Given the description of an element on the screen output the (x, y) to click on. 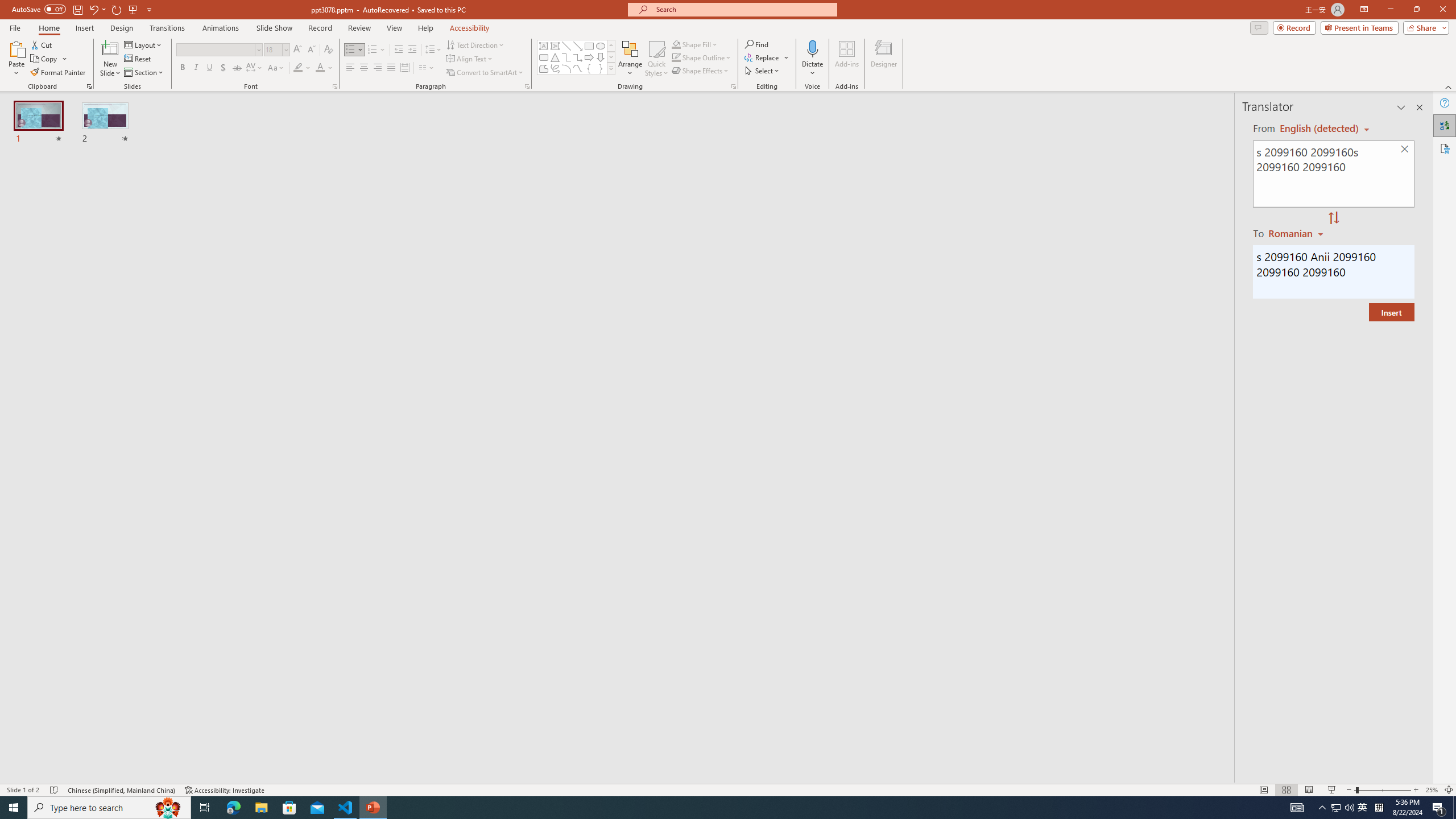
Romanian (1296, 232)
